Given the description of an element on the screen output the (x, y) to click on. 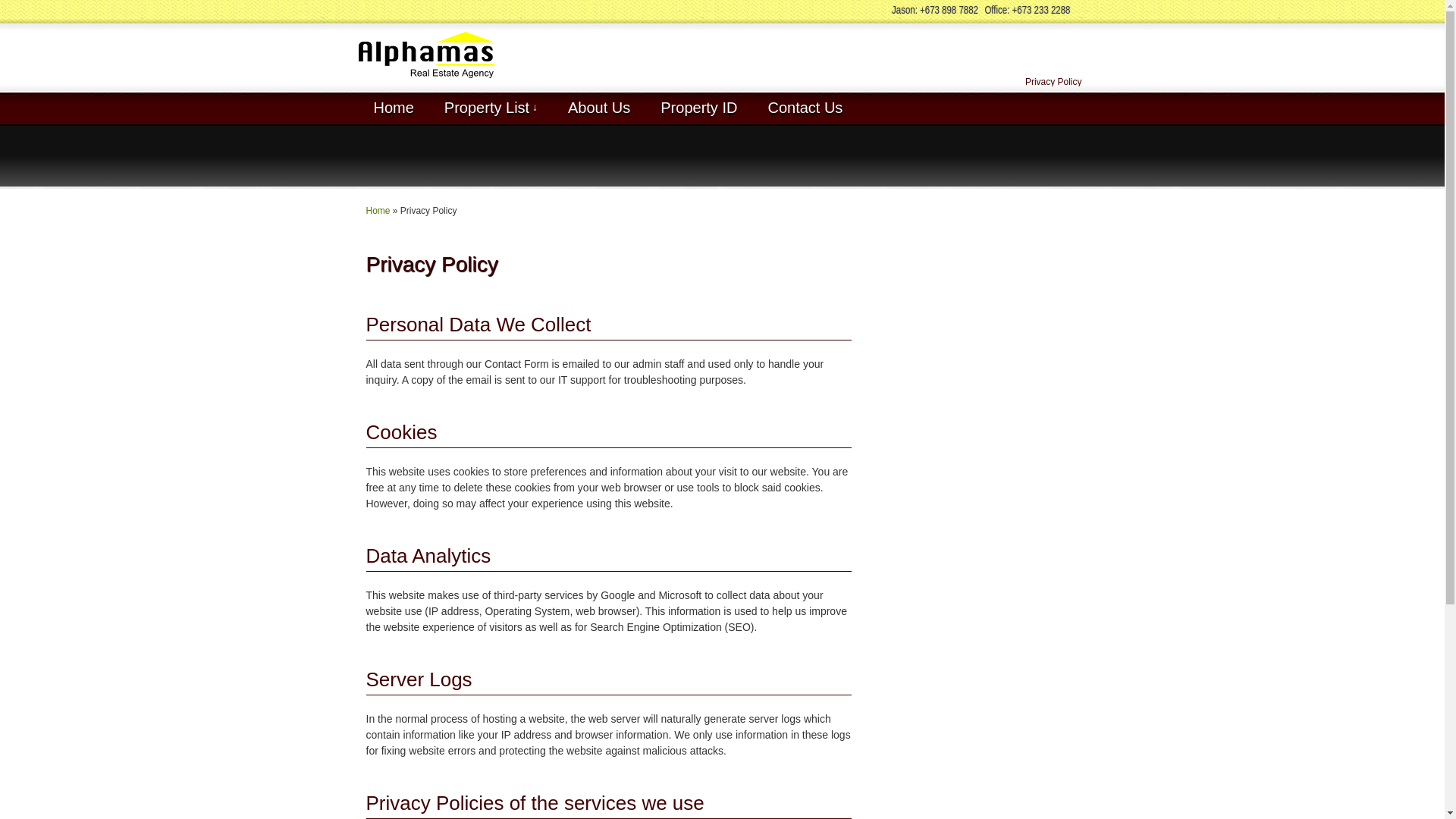
Home (377, 210)
Privacy Policy (1053, 81)
About Us (599, 107)
Property List (491, 107)
Contact Us (804, 107)
Home (393, 107)
Property ID (698, 107)
